Given the description of an element on the screen output the (x, y) to click on. 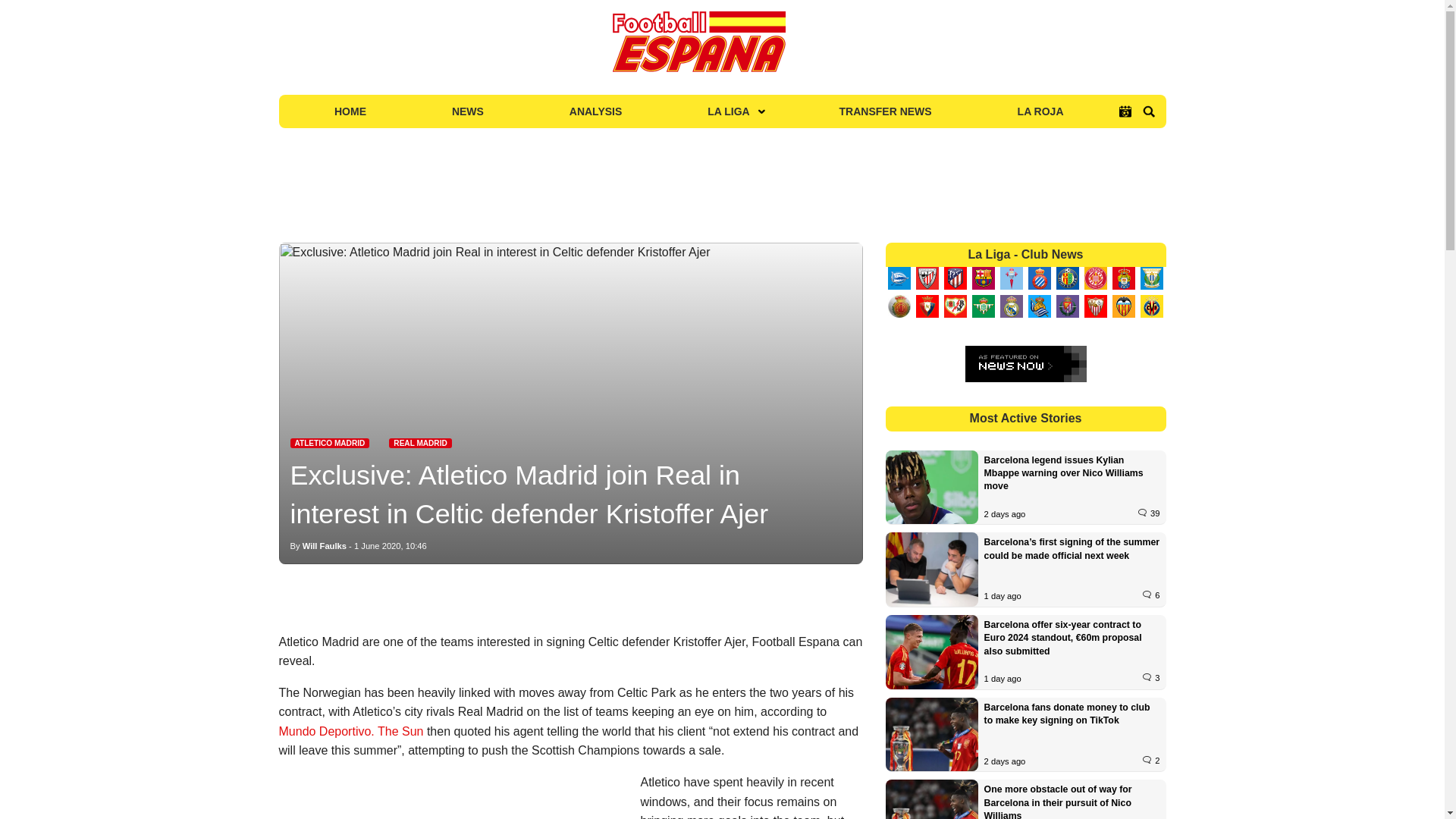
ANALYSIS (595, 111)
HOME (350, 111)
La Liga Fixtures (1125, 111)
Latest Atletico Madrid News (329, 442)
NEWS (468, 111)
Latest Real Madrid News (419, 442)
LA LIGA (729, 111)
TRANSFER NEWS (885, 111)
LA ROJA (1040, 111)
Search (1147, 111)
